Given the description of an element on the screen output the (x, y) to click on. 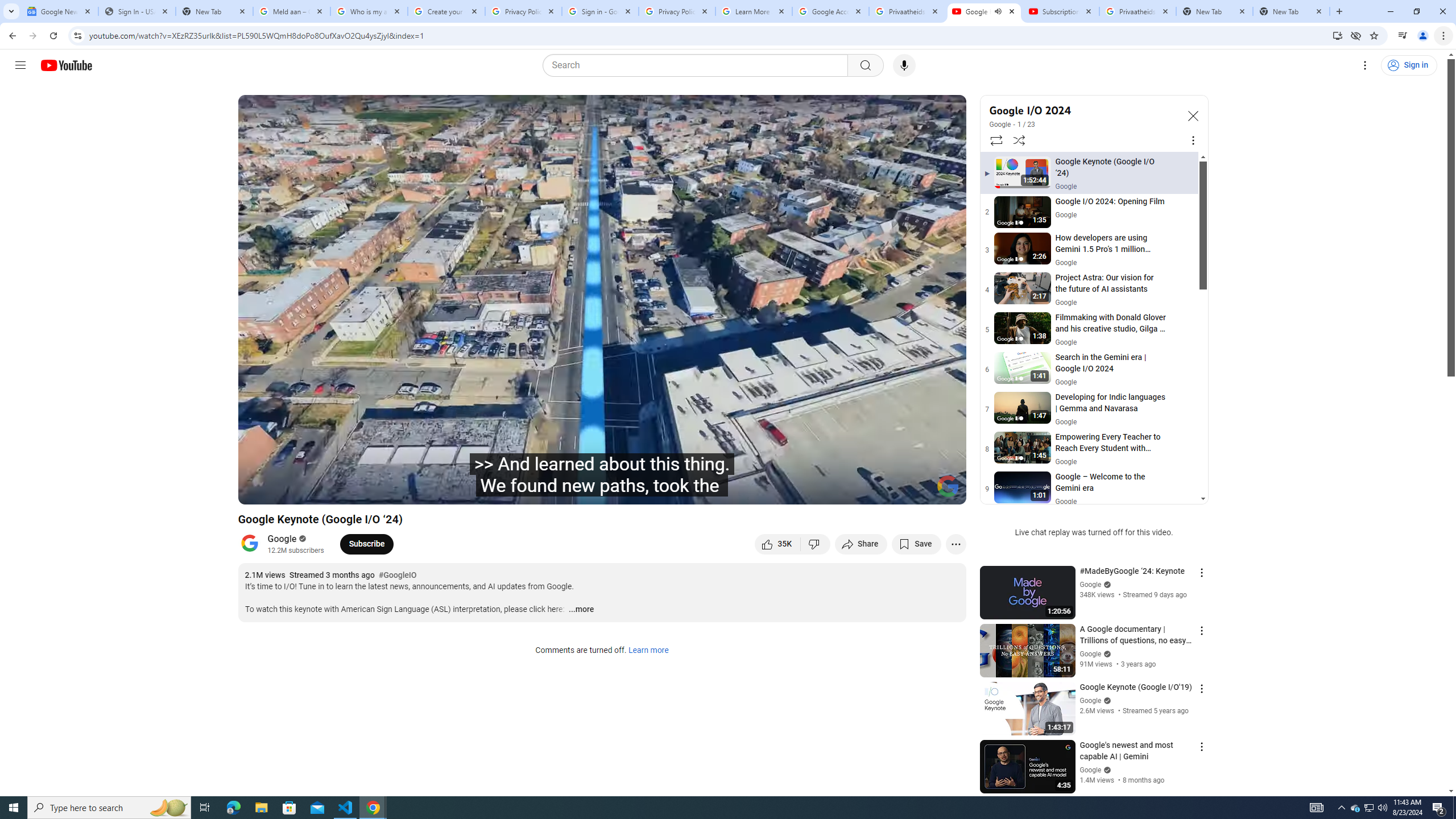
Learn more (647, 650)
Sign in - Google Accounts (599, 11)
Google News (59, 11)
Channel watermark (947, 486)
#GoogleIO (397, 575)
Theater mode (t) (917, 490)
